Given the description of an element on the screen output the (x, y) to click on. 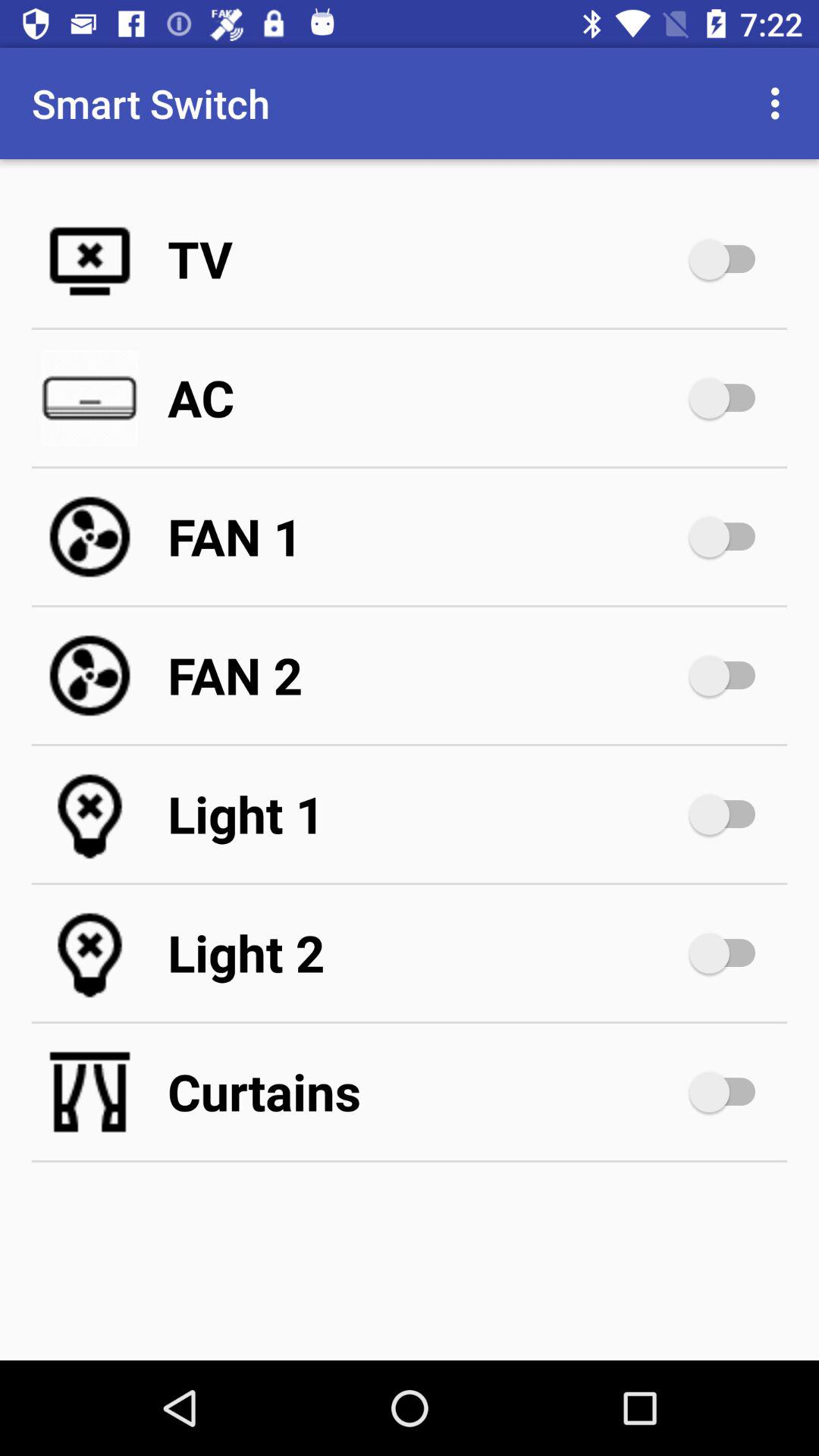
toggle switch (729, 1091)
